Given the description of an element on the screen output the (x, y) to click on. 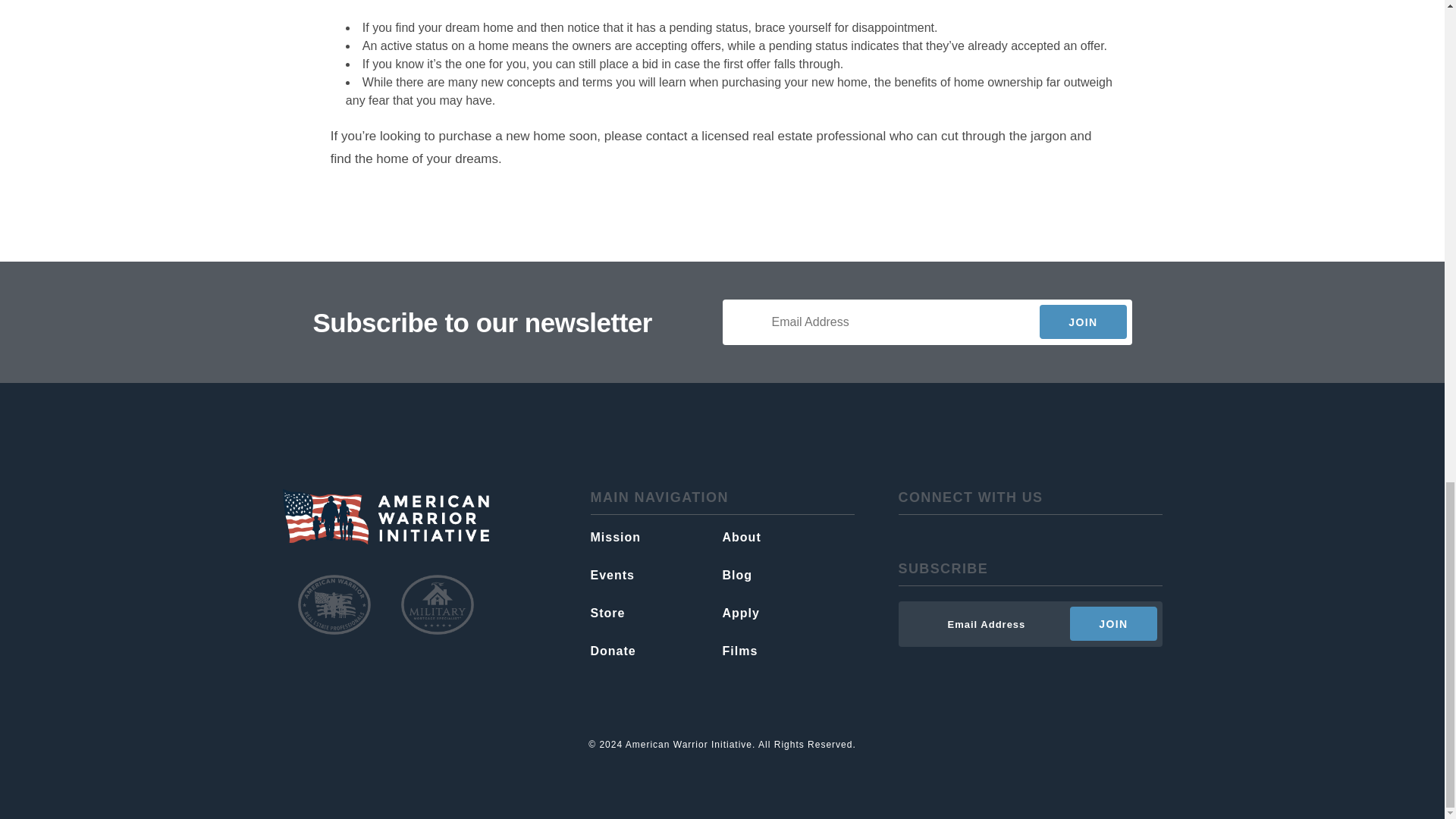
Store (655, 613)
Blog (787, 575)
Apply (787, 613)
JOIN (1082, 321)
JOIN (1113, 623)
Mission (655, 537)
Donate (655, 651)
Films (787, 651)
About (787, 537)
Events (655, 575)
